Given the description of an element on the screen output the (x, y) to click on. 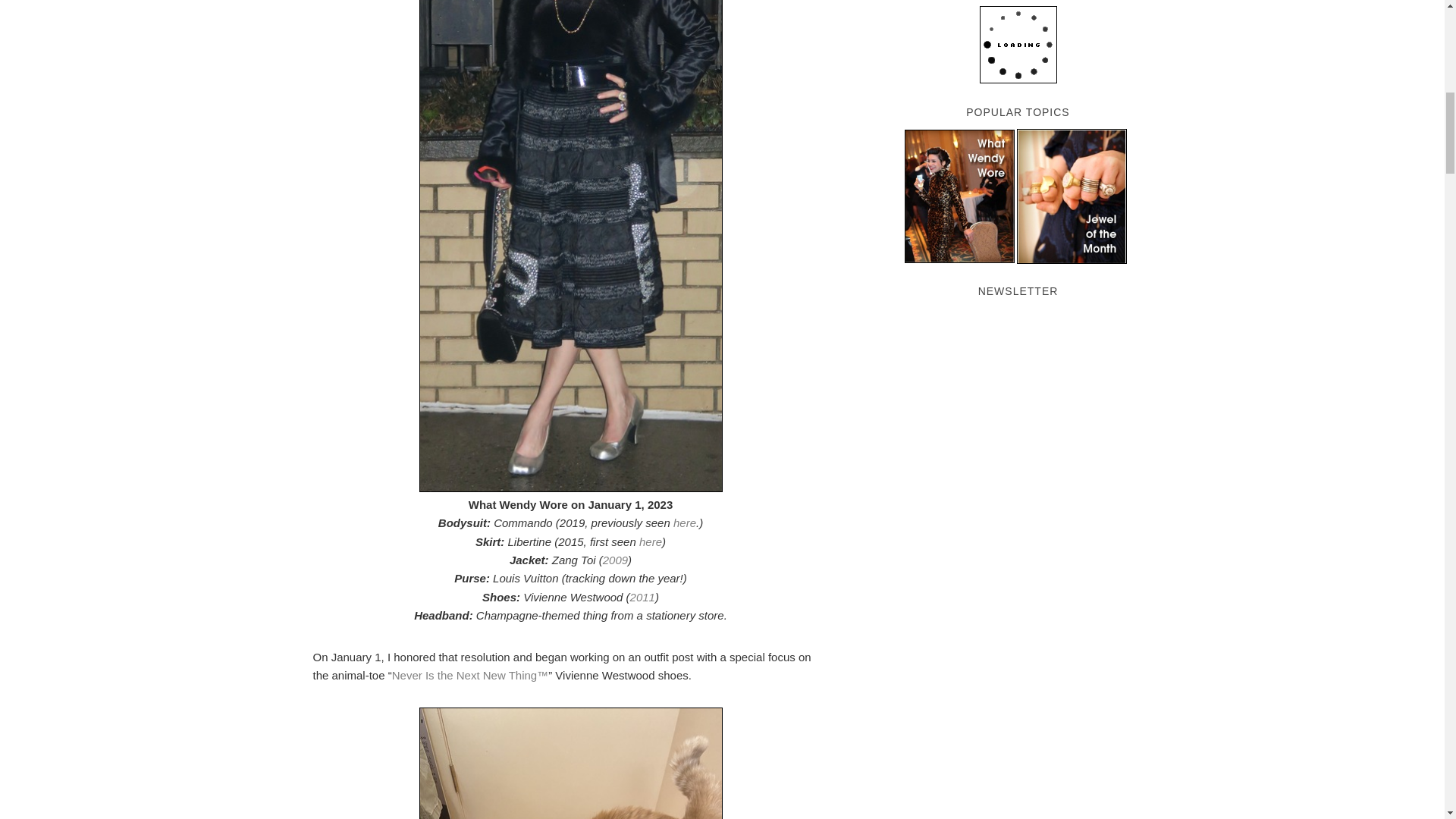
here (650, 541)
2011 (642, 596)
here (683, 522)
2009 (614, 559)
